Given the description of an element on the screen output the (x, y) to click on. 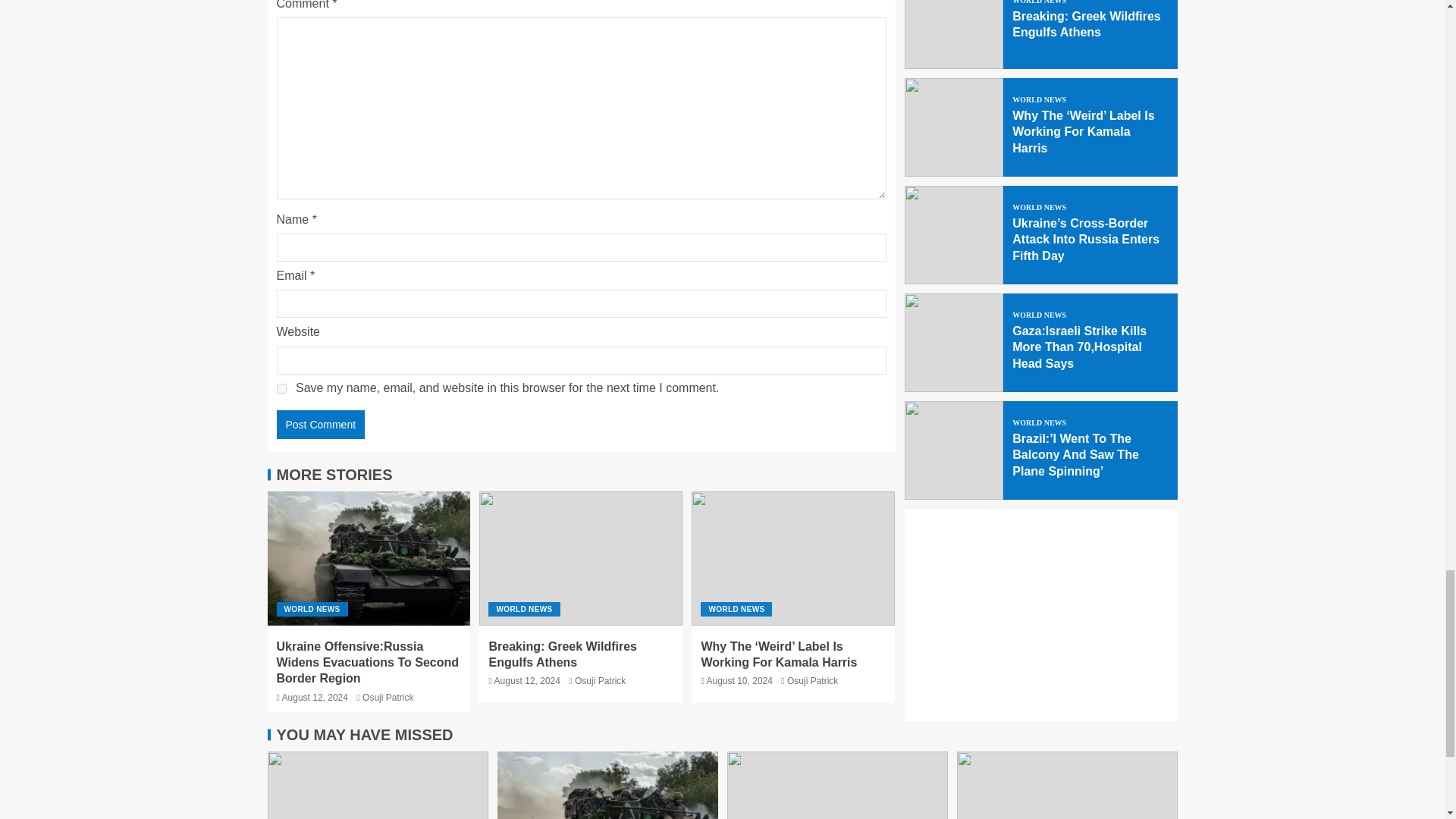
WORLD NEWS (311, 608)
Post Comment (320, 424)
Osuji Patrick (387, 696)
Post Comment (320, 424)
Breaking: Greek Wildfires Engulfs Athens (561, 654)
WORLD NEWS (523, 608)
yes (280, 388)
Osuji Patrick (600, 680)
